Given the description of an element on the screen output the (x, y) to click on. 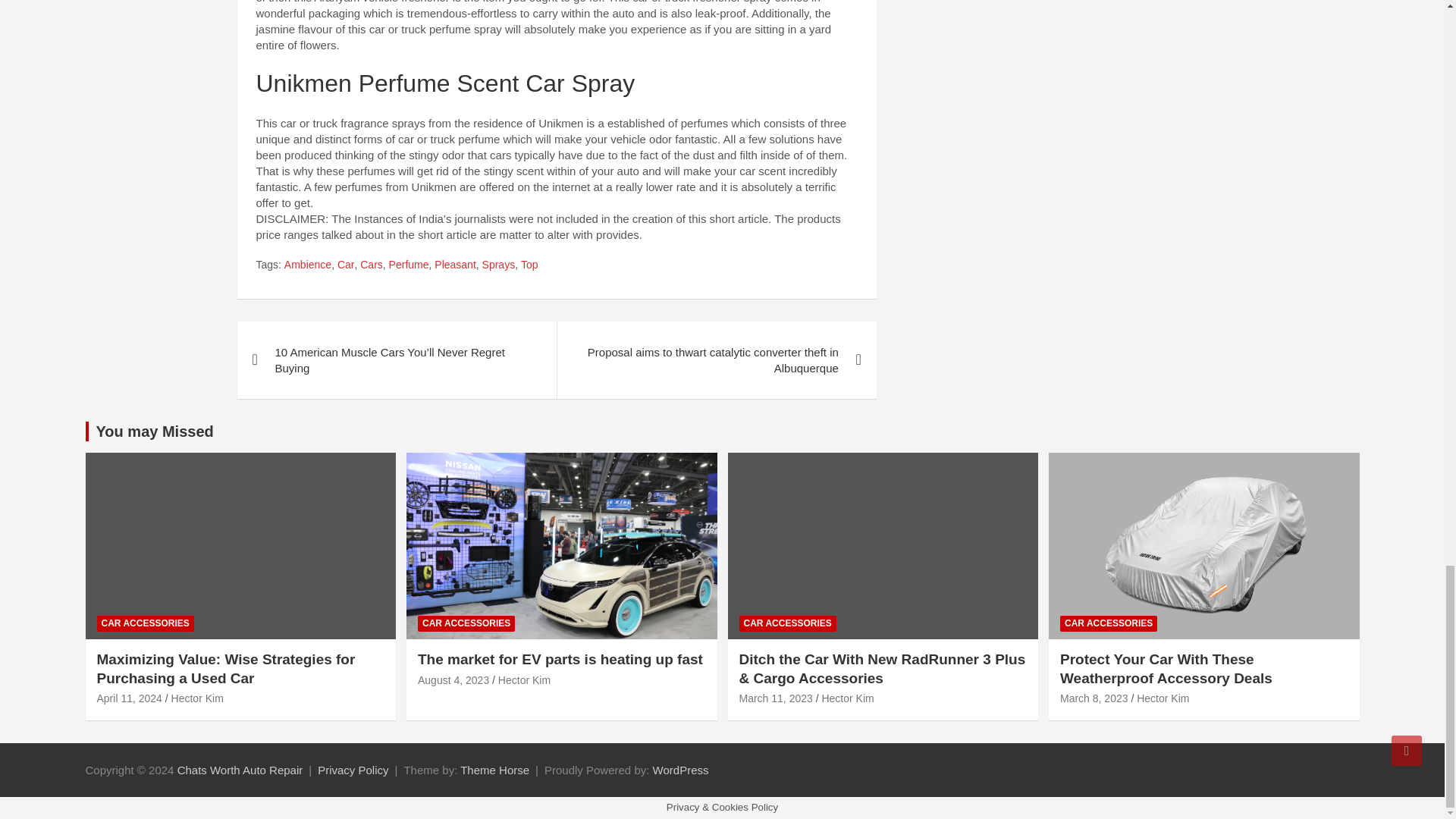
Ambience (307, 264)
The market for EV parts is heating up fast (453, 680)
WordPress (680, 769)
Pleasant (454, 264)
Chats Worth Auto Repair (239, 769)
Maximizing Value: Wise Strategies for Purchasing a Used Car (129, 698)
Sprays (498, 264)
Protect Your Car With These Weatherproof Accessory Deals (1093, 698)
Perfume (408, 264)
